Given the description of an element on the screen output the (x, y) to click on. 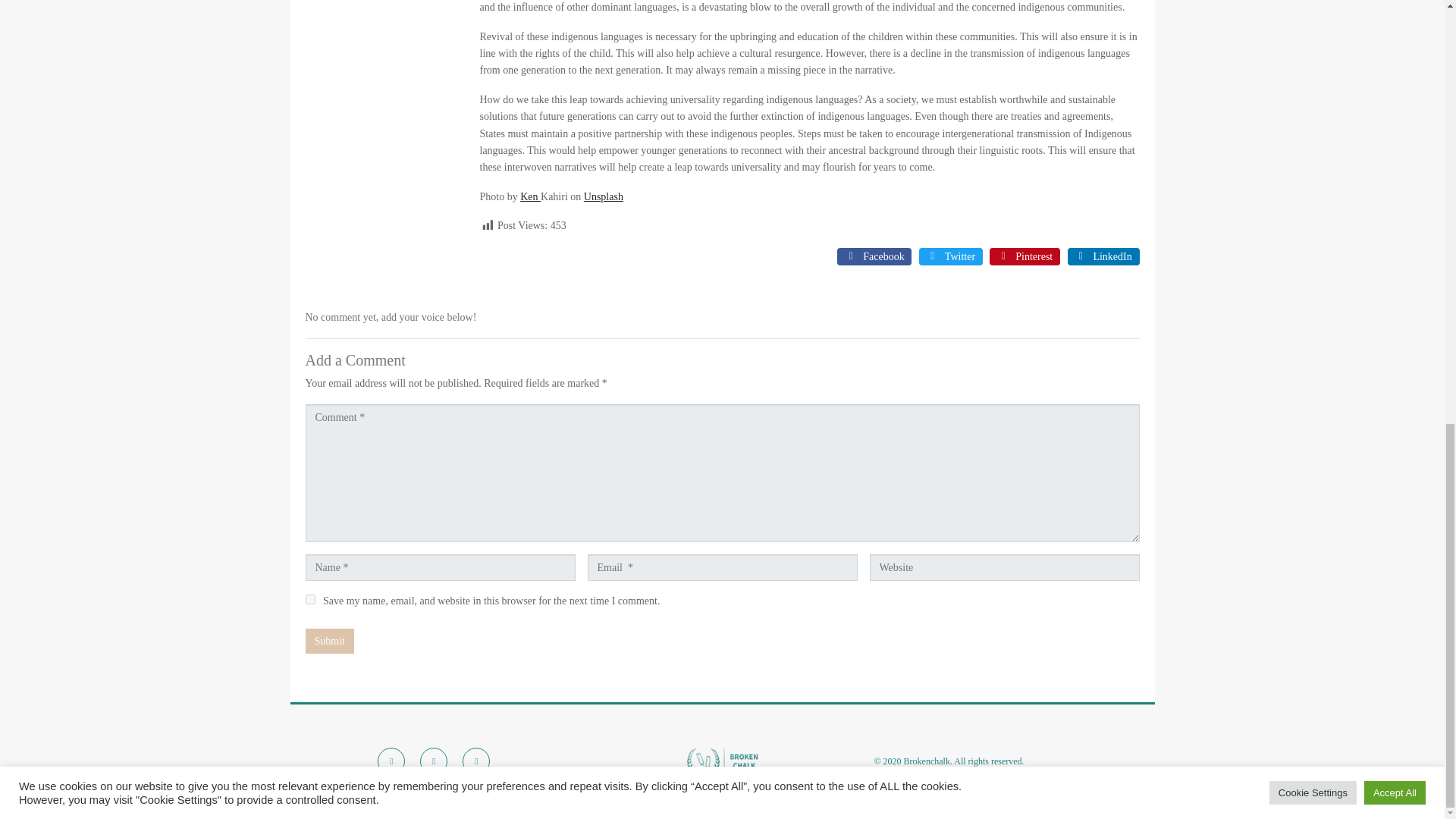
yes (309, 599)
